Given the description of an element on the screen output the (x, y) to click on. 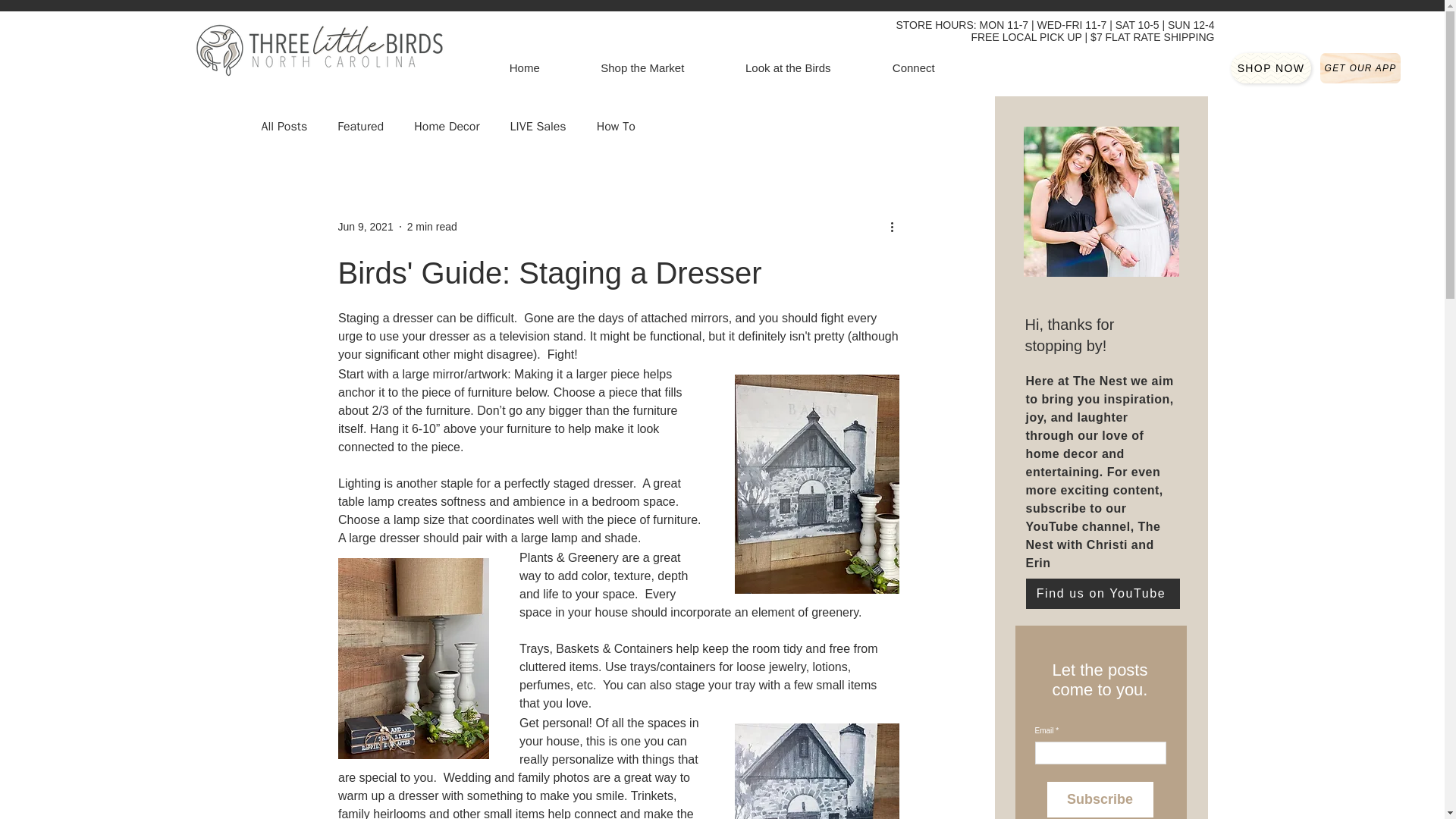
Home Decor (446, 125)
Subscribe (1099, 799)
All Posts (283, 125)
Find us on YouTube (1102, 593)
How To (615, 125)
LIVE Sales (538, 125)
Jun 9, 2021 (365, 225)
2 min read (432, 225)
Look at the Birds (787, 67)
GET OUR APP (1360, 68)
